Given the description of an element on the screen output the (x, y) to click on. 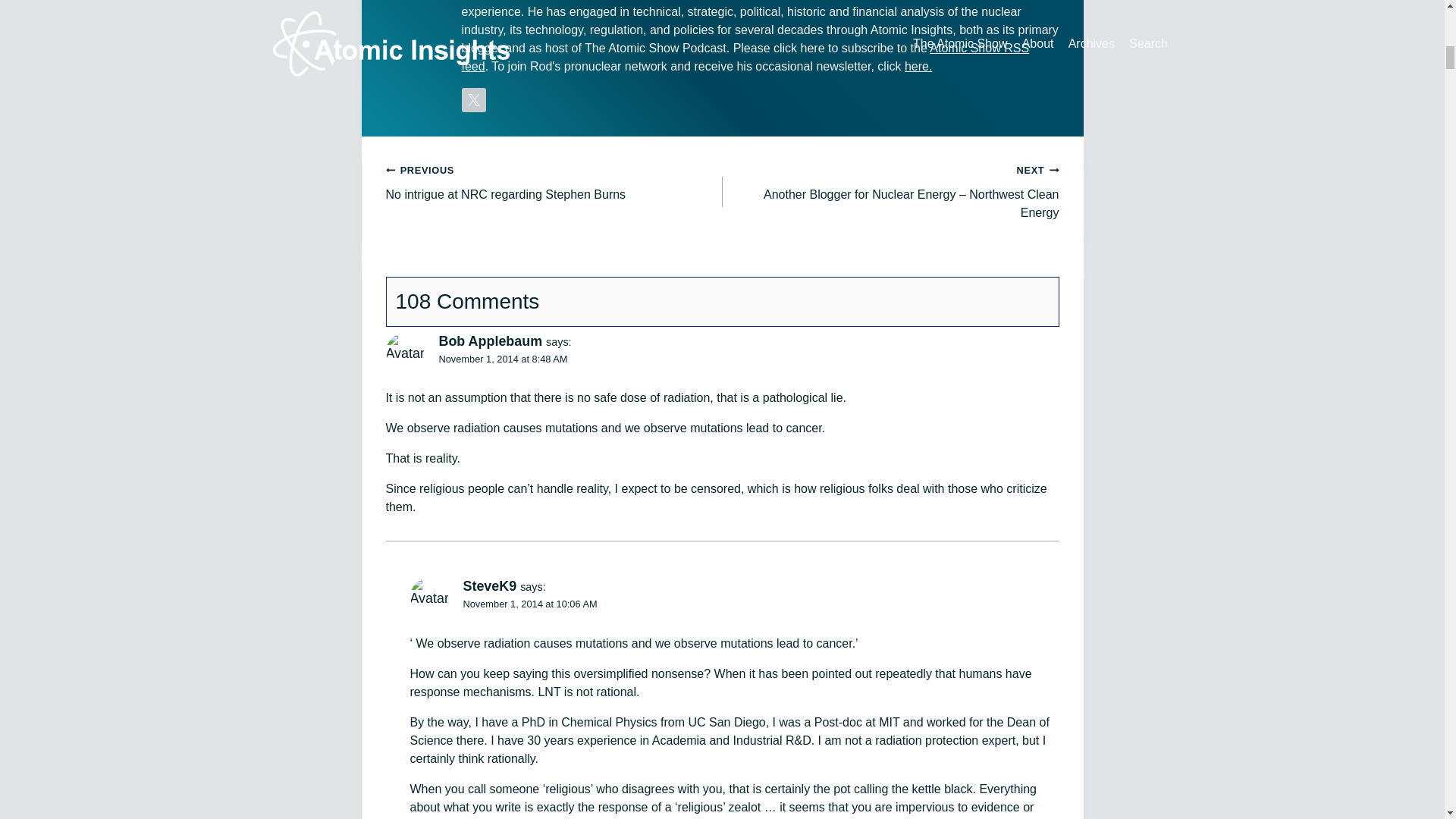
Follow Rod Adams on X formerly Twitter (553, 181)
November 1, 2014 at 10:06 AM (472, 99)
November 1, 2014 at 8:48 AM (529, 603)
Atomic Show RSS feed (502, 358)
here. (745, 56)
